Given the description of an element on the screen output the (x, y) to click on. 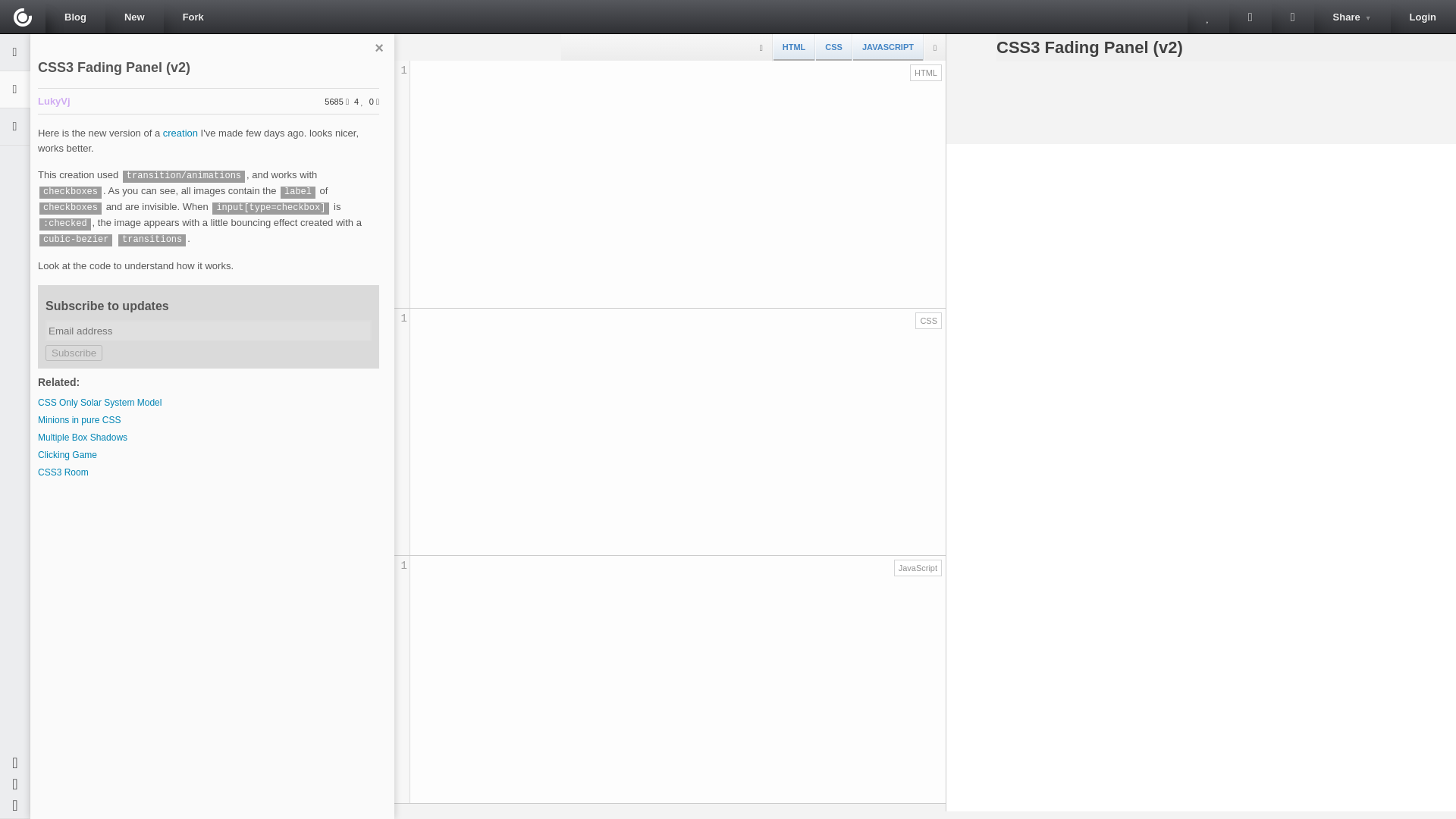
New (133, 17)
Blog (74, 17)
Fork (192, 17)
Login (1422, 17)
Next Item (1249, 17)
Share (1352, 17)
Labs (22, 17)
Refresh Output (1292, 17)
Like this Creation (1208, 17)
